Given the description of an element on the screen output the (x, y) to click on. 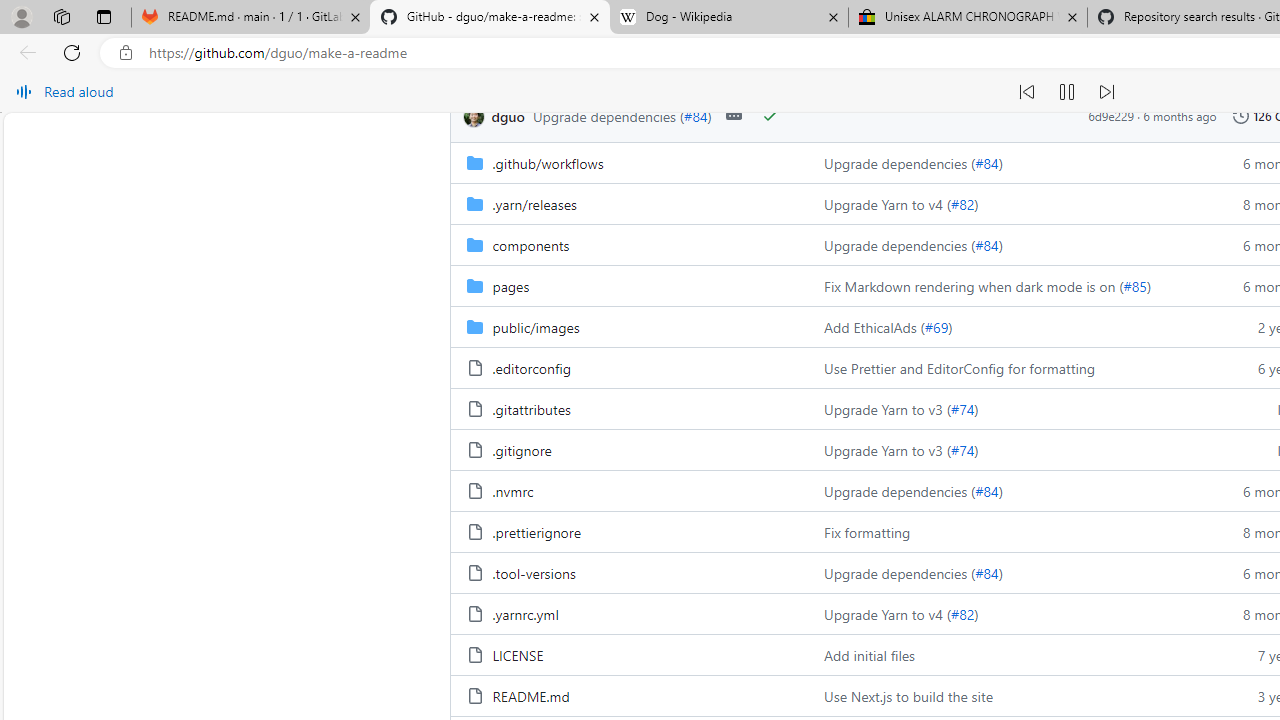
Use Next.js to build the site (908, 696)
Add EthicalAds (#69) (1008, 326)
Commit 6d9e229 (1111, 116)
.gitattributes, (File) (530, 408)
.yarnrc.yml, (File) (525, 614)
Use Prettier and EditorConfig for formatting (1008, 367)
.yarn/releases, (Directory) (534, 203)
public/images, (Directory) (629, 326)
.editorconfig, (File) (530, 367)
Open commit details (733, 116)
.prettierignore, (File) (536, 532)
pages, (Directory) (510, 285)
